Given the description of an element on the screen output the (x, y) to click on. 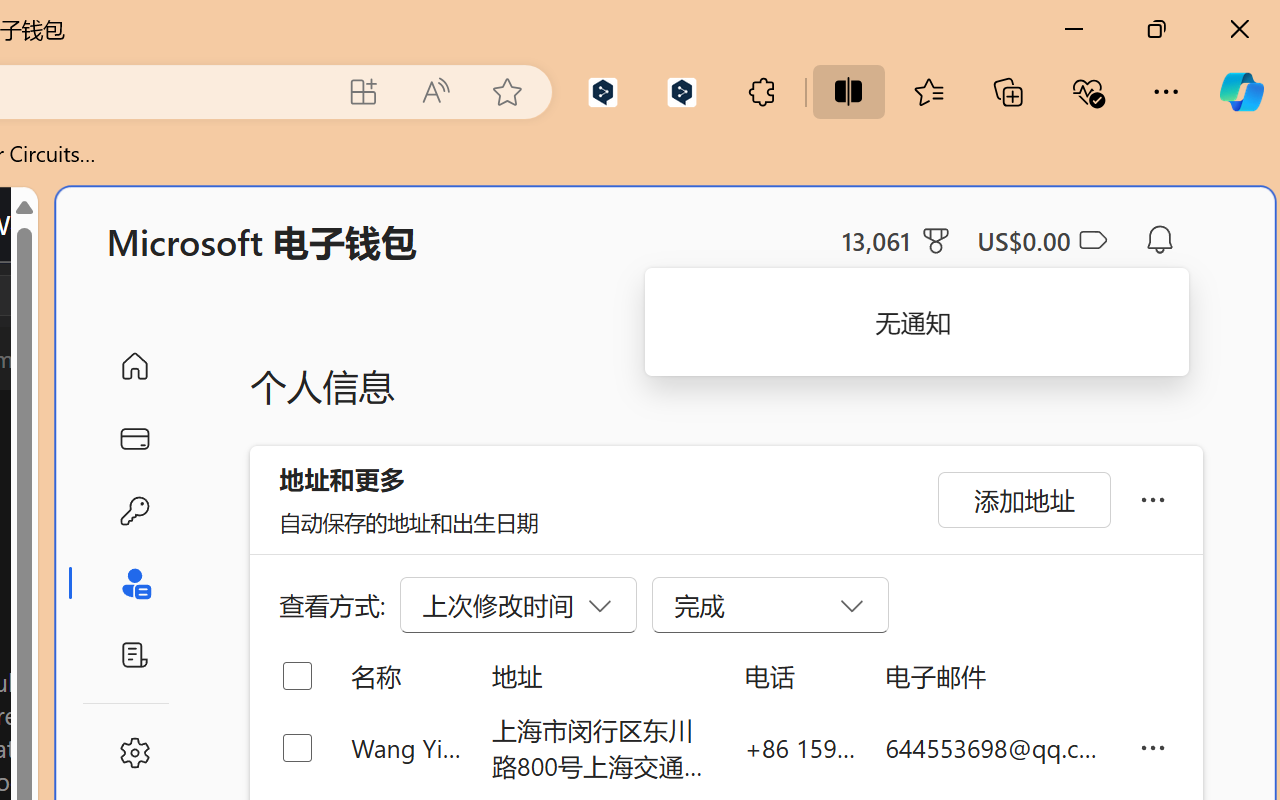
Microsoft Cashback - US$0.00 (1041, 240)
Class: actions-container (94, 295)
Class: ___1lmltc5 f1agt3bx f12qytpq (1092, 241)
